Given the description of an element on the screen output the (x, y) to click on. 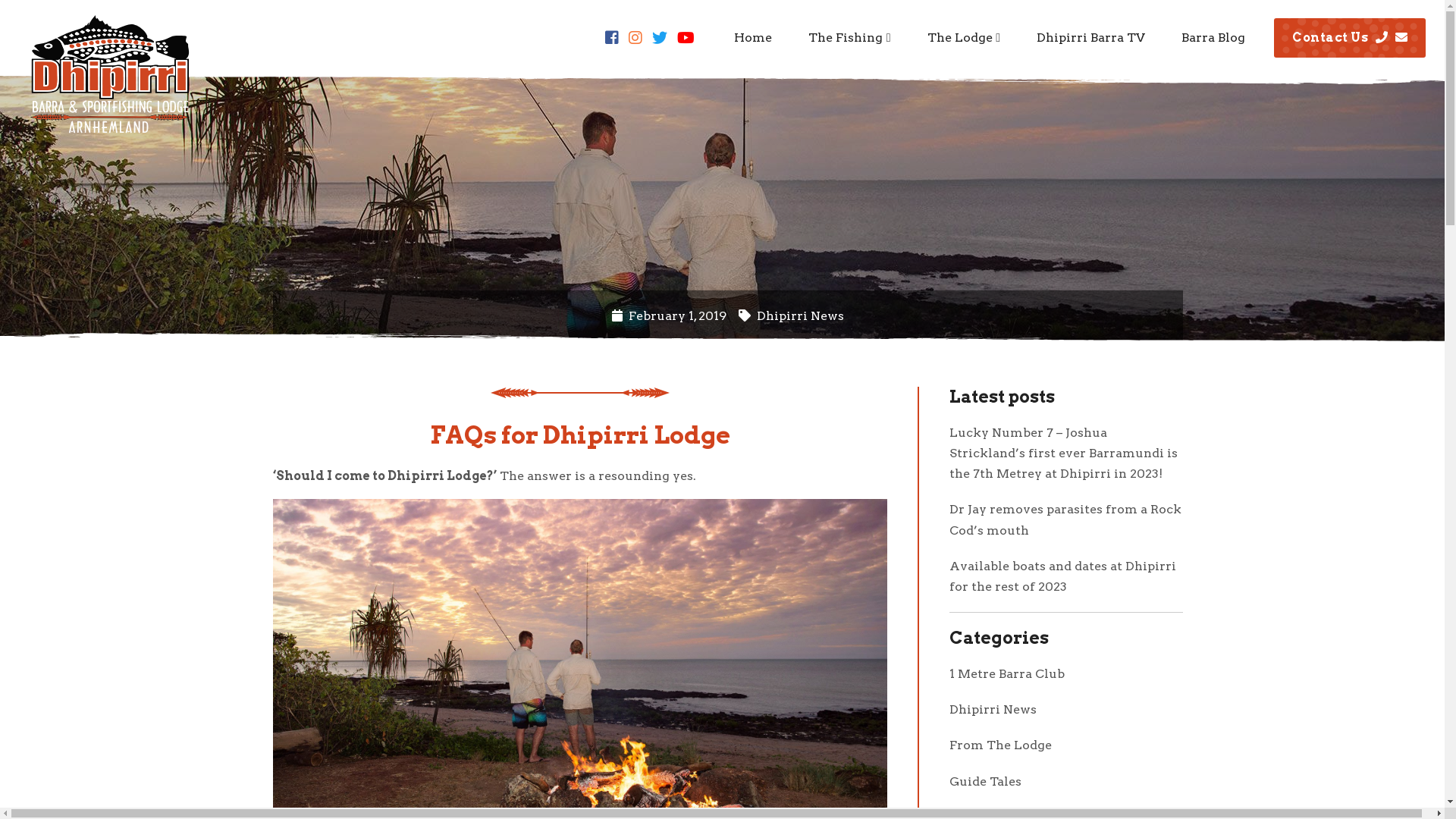
Contact Us Element type: text (1349, 37)
1 Metre Barra Club Element type: text (1006, 673)
The Lodge Element type: text (963, 37)
Available boats and dates at Dhipirri for the rest of 2023 Element type: text (1062, 575)
Home Element type: text (752, 37)
Dhipirri News Element type: text (992, 709)
Dhipirri Barra TV Element type: text (1090, 37)
Guide Tales Element type: text (985, 781)
From The Lodge Element type: text (1000, 744)
Barra Blog Element type: text (1213, 37)
The Fishing Element type: text (849, 37)
